Given the description of an element on the screen output the (x, y) to click on. 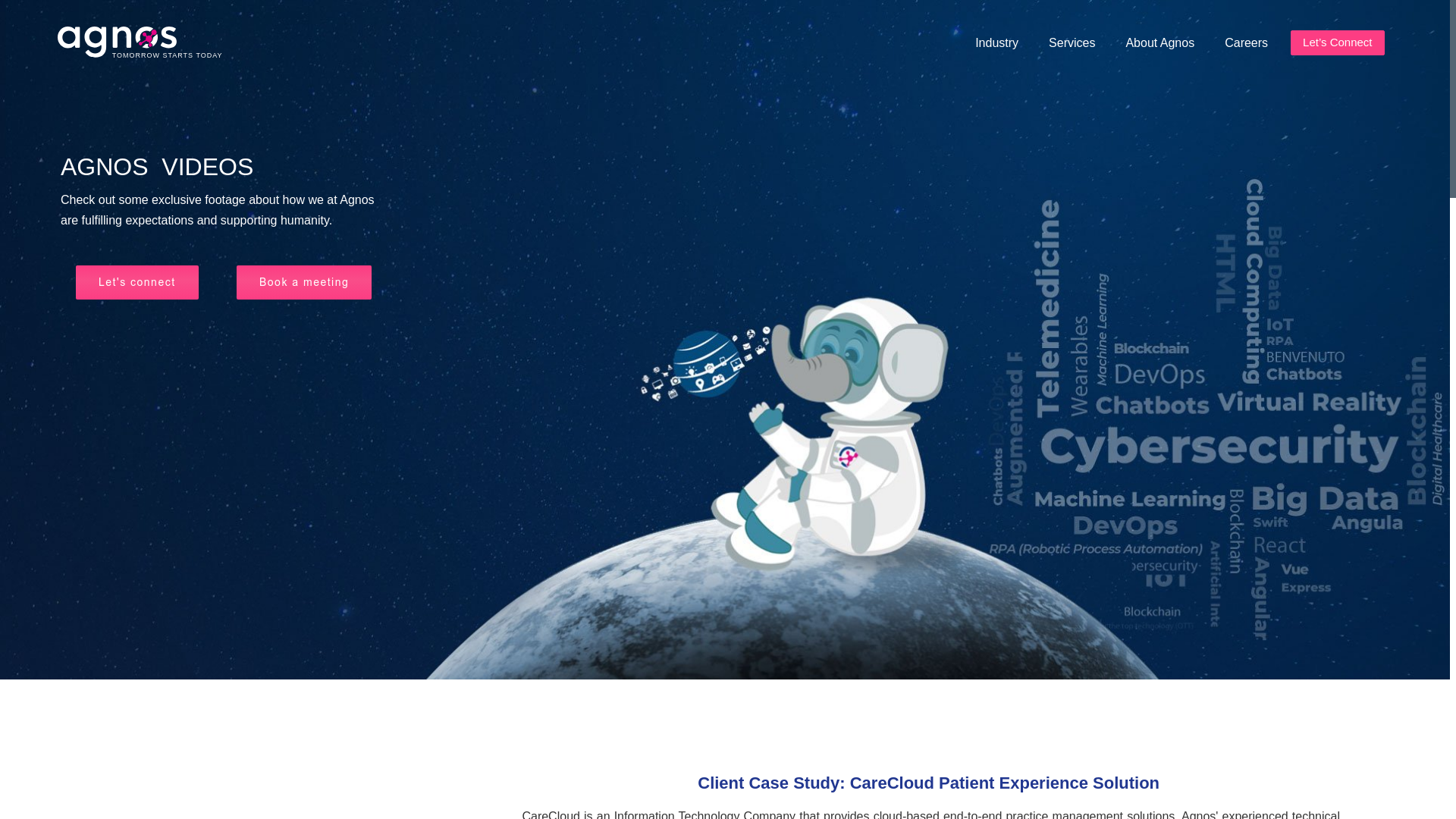
TOMORROW STARTS TODAY (142, 58)
Services (1071, 42)
Careers (1246, 42)
TOMORROW STARTS TODAY (142, 44)
Industry (996, 42)
About Agnos (1159, 42)
